Given the description of an element on the screen output the (x, y) to click on. 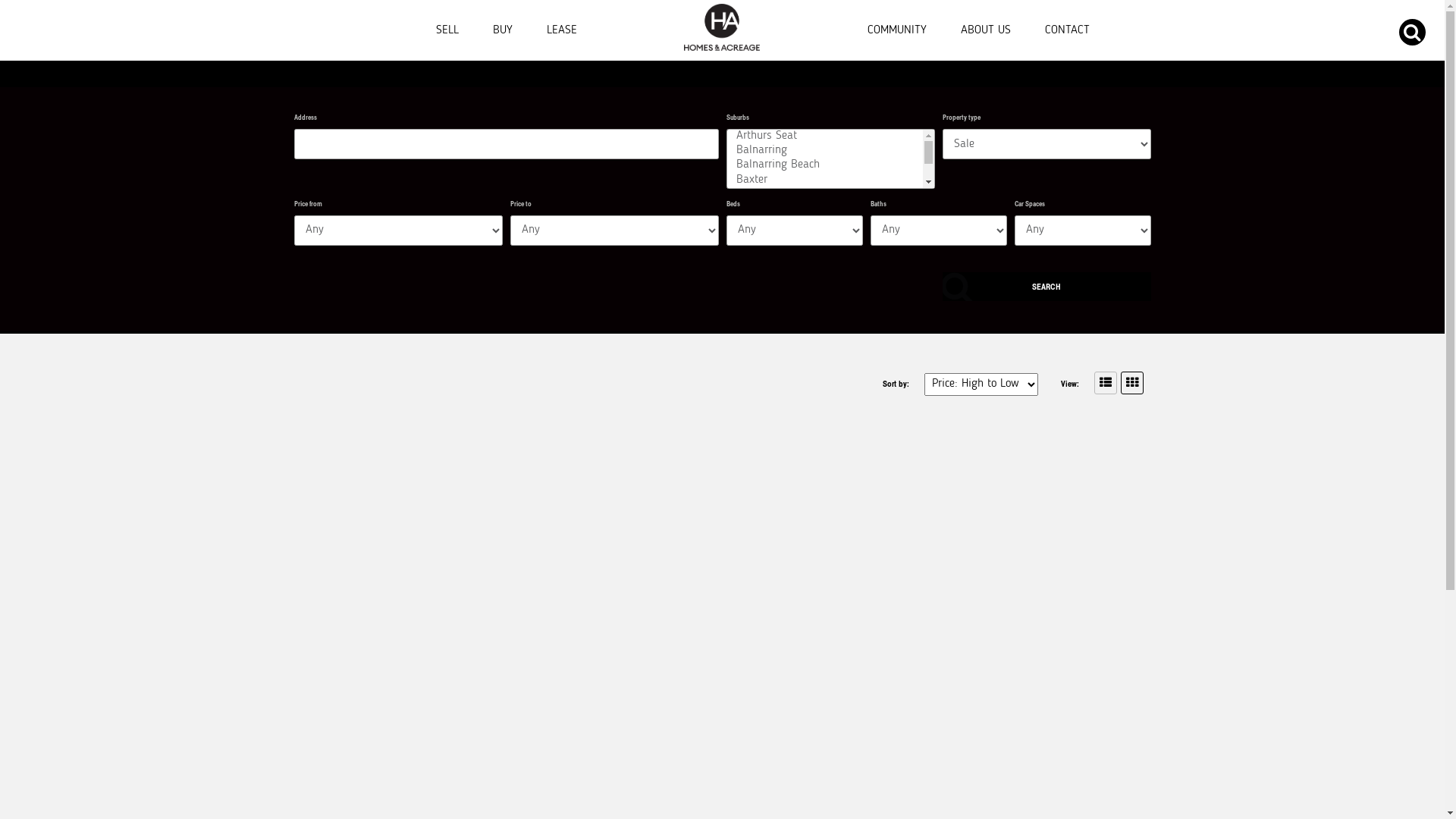
CONTACT Element type: text (1066, 22)
BUY Element type: text (502, 22)
COMMUNITY Element type: text (896, 22)
SEARCH Element type: text (1045, 286)
LEASE Element type: text (561, 22)
SELL Element type: text (446, 22)
